Given the description of an element on the screen output the (x, y) to click on. 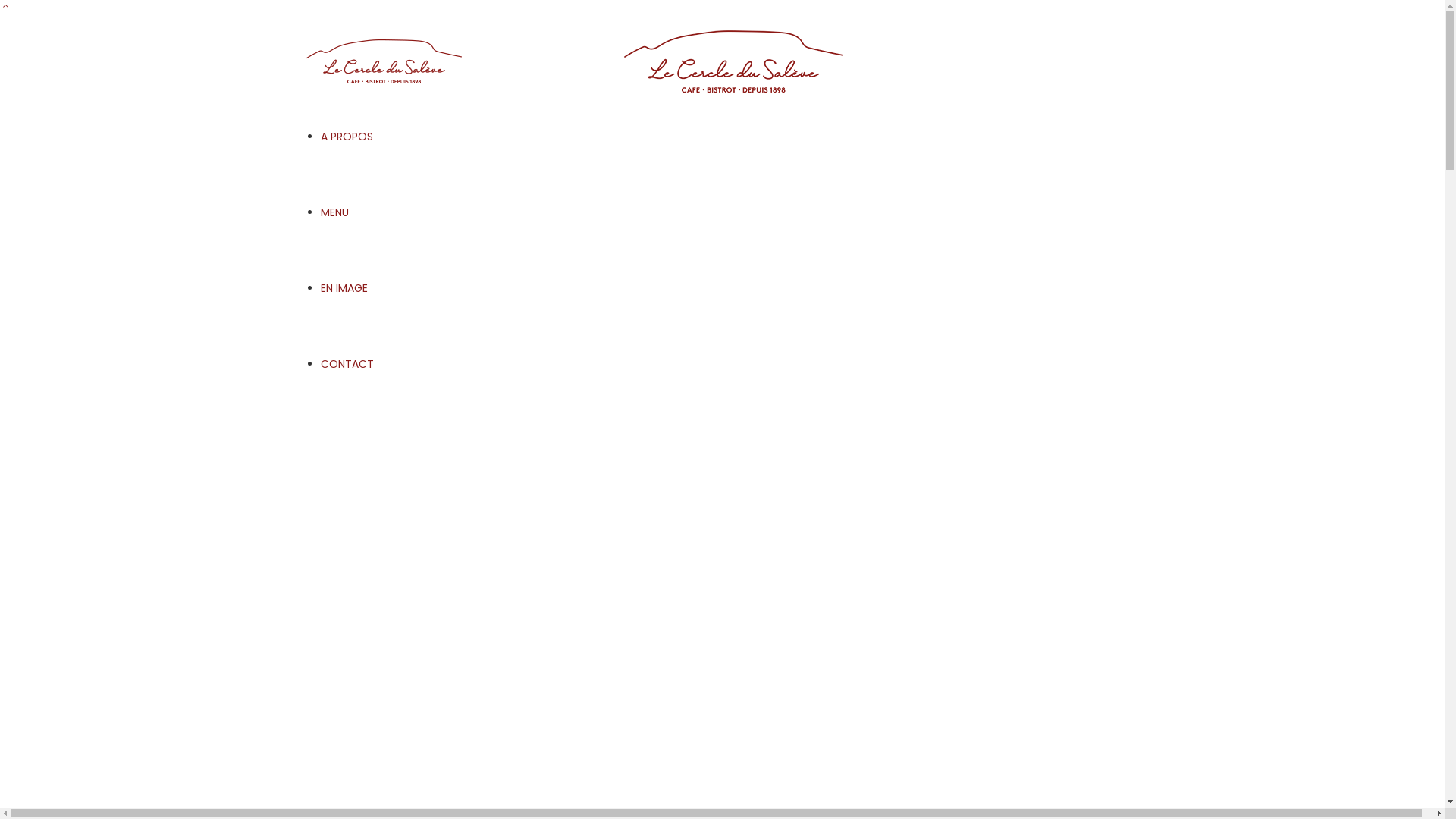
MENU Element type: text (334, 211)
CONTACT Element type: text (346, 363)
EN IMAGE Element type: text (343, 287)
A PROPOS Element type: text (346, 136)
